Given the description of an element on the screen output the (x, y) to click on. 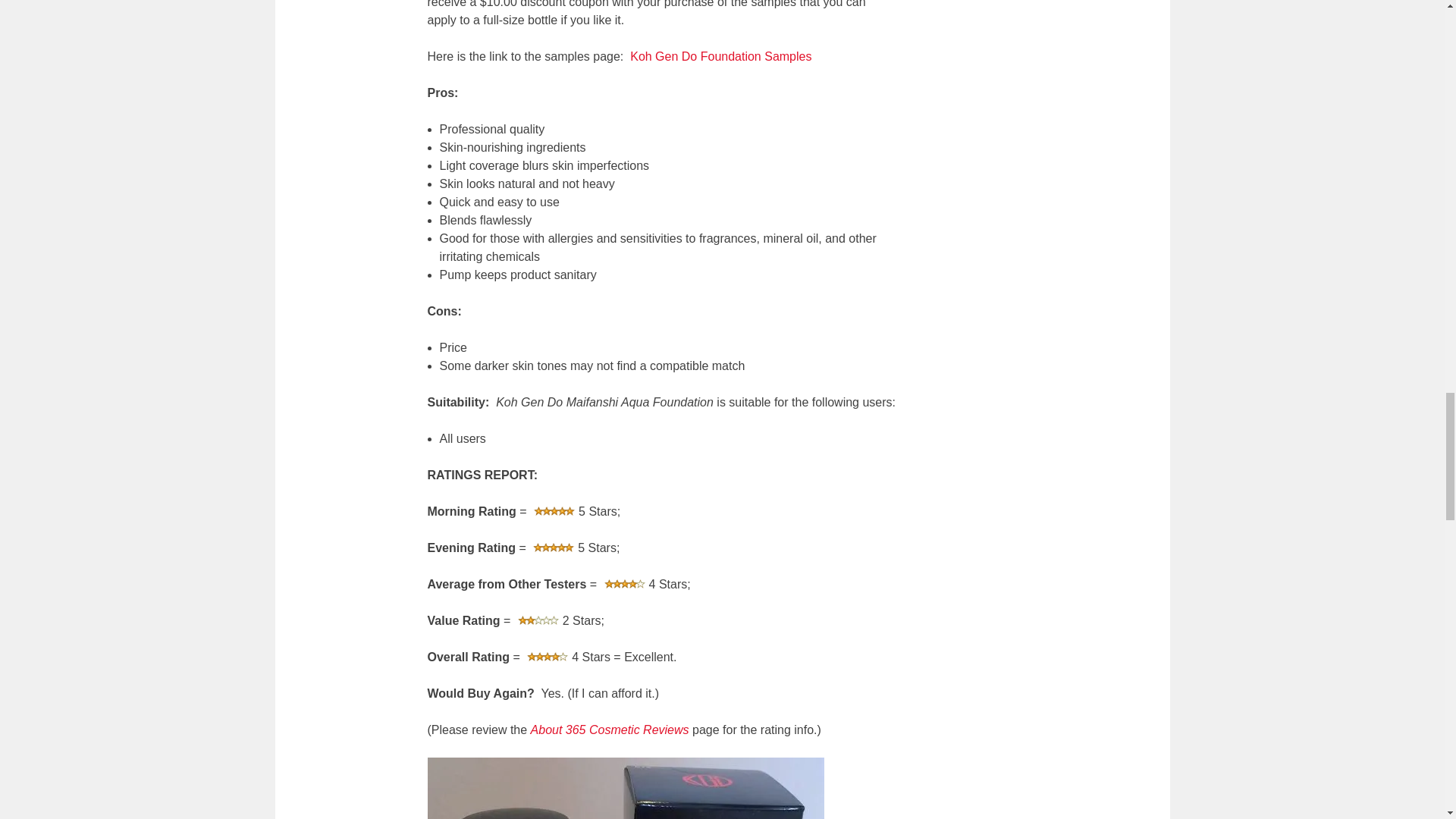
Koh Gen Do Foundation Samples (720, 56)
About 365 Cosmetic Reviews (612, 729)
